Given the description of an element on the screen output the (x, y) to click on. 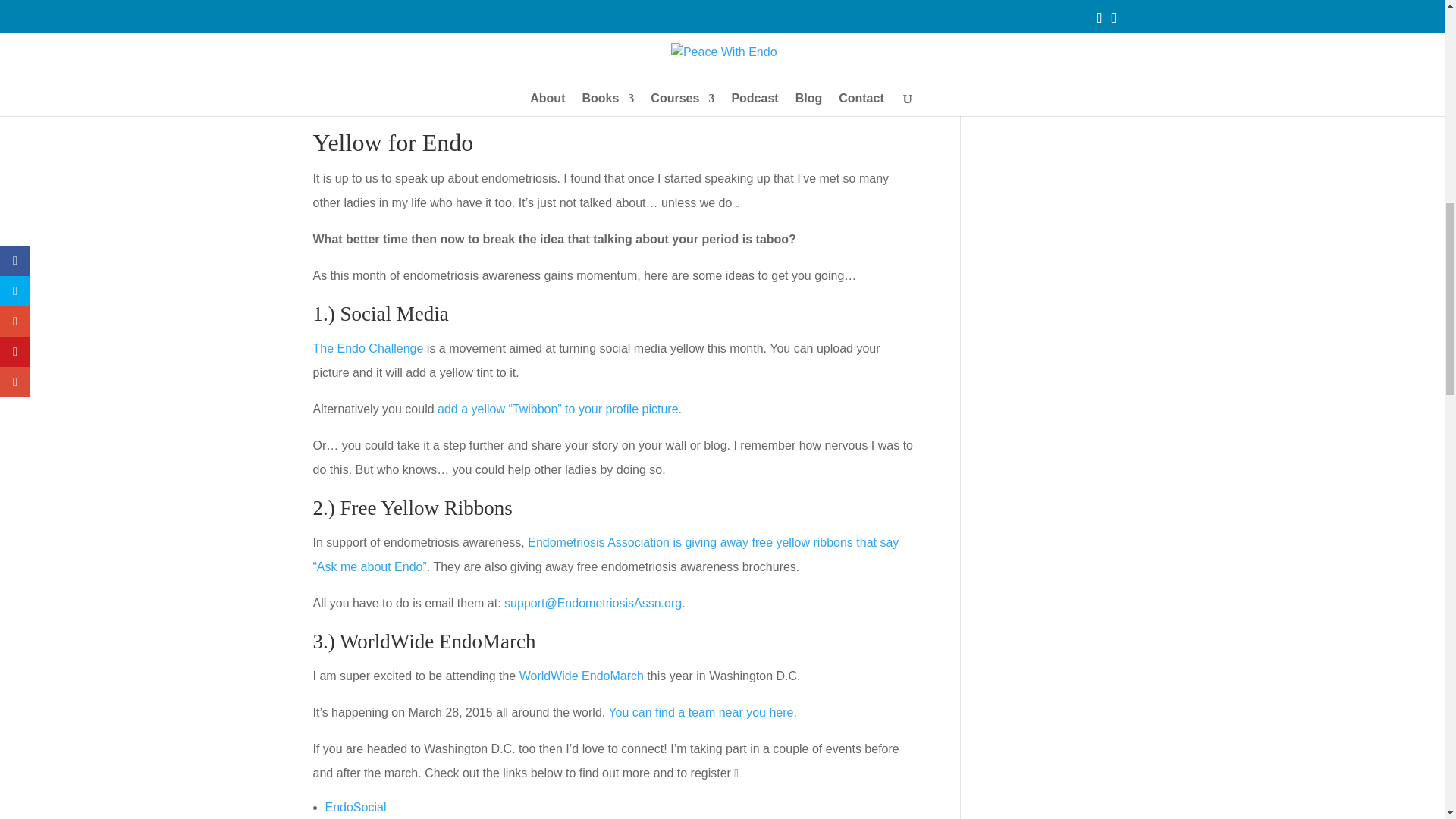
EndoSocial (354, 807)
WorldWide EndoMarch (581, 675)
The Endo Challenge (368, 348)
The Endo Challenge (368, 348)
You can find a team near you here (700, 712)
